Given the description of an element on the screen output the (x, y) to click on. 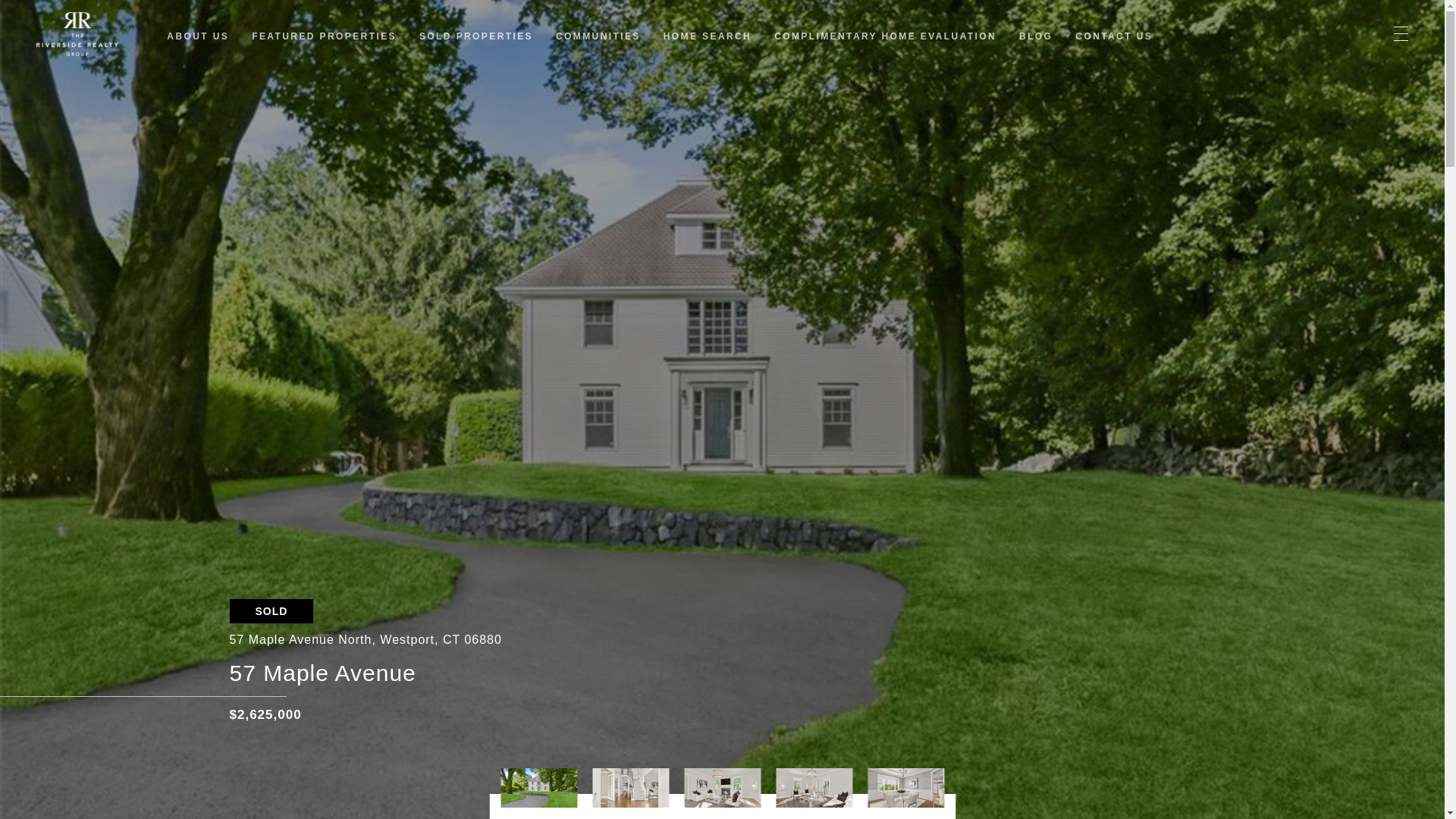
ABOUT US (197, 36)
BLOG (1035, 36)
COMMUNITIES (598, 36)
COMPLIMENTARY HOME EVALUATION (884, 36)
CONTACT US (1114, 36)
FEATURED PROPERTIES (323, 36)
SOLD PROPERTIES (475, 36)
HOME SEARCH (707, 36)
